Given the description of an element on the screen output the (x, y) to click on. 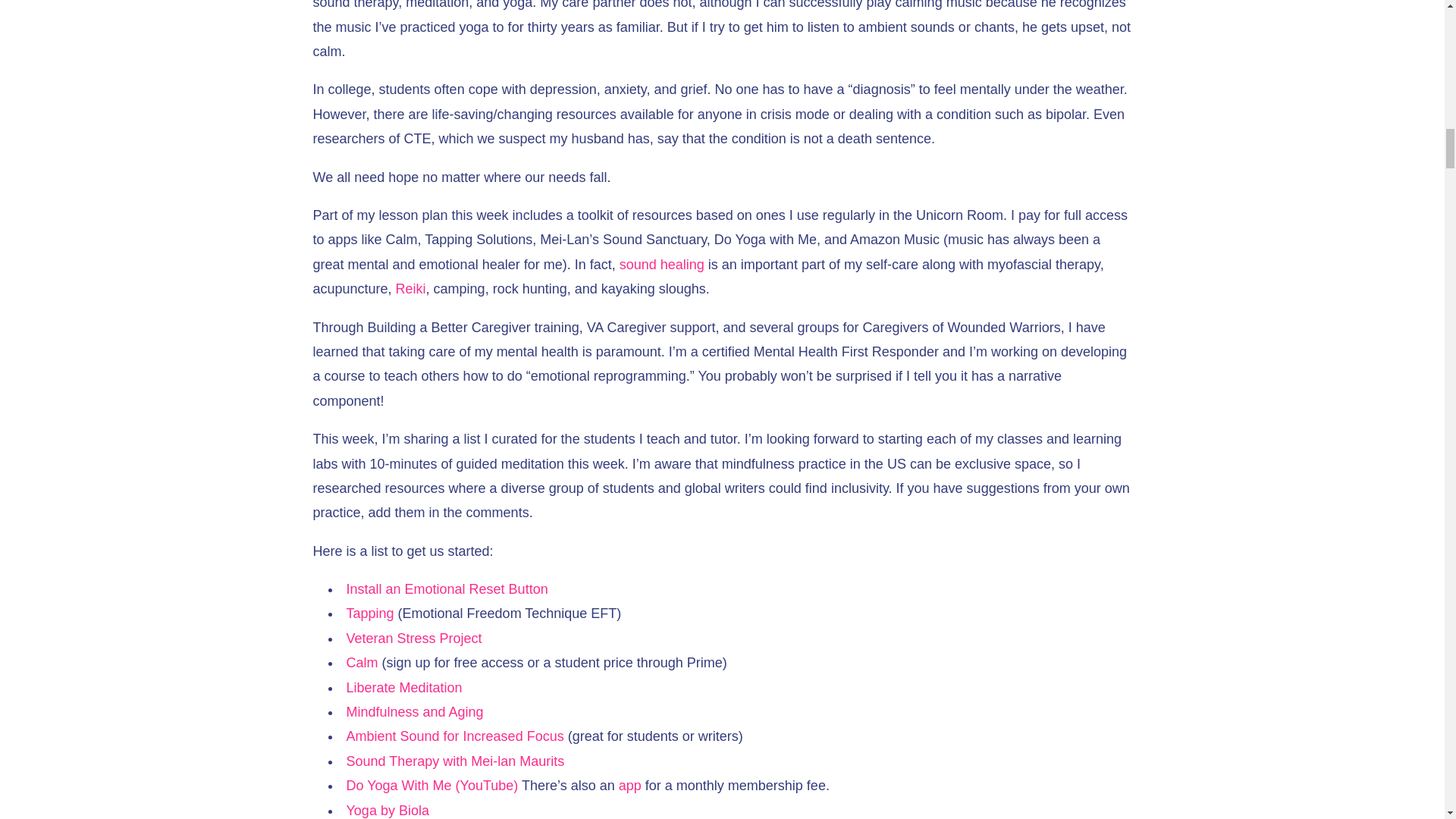
app (630, 785)
Calm (361, 662)
Install an Emotional Reset Button (446, 589)
Veteran Stress Project (413, 638)
Tapping (369, 613)
sound healing (662, 264)
Mindfulness and Aging (414, 711)
Reiki (411, 288)
Sound Therapy with Mei-lan Maurits (455, 761)
Liberate Meditation (403, 687)
